Given the description of an element on the screen output the (x, y) to click on. 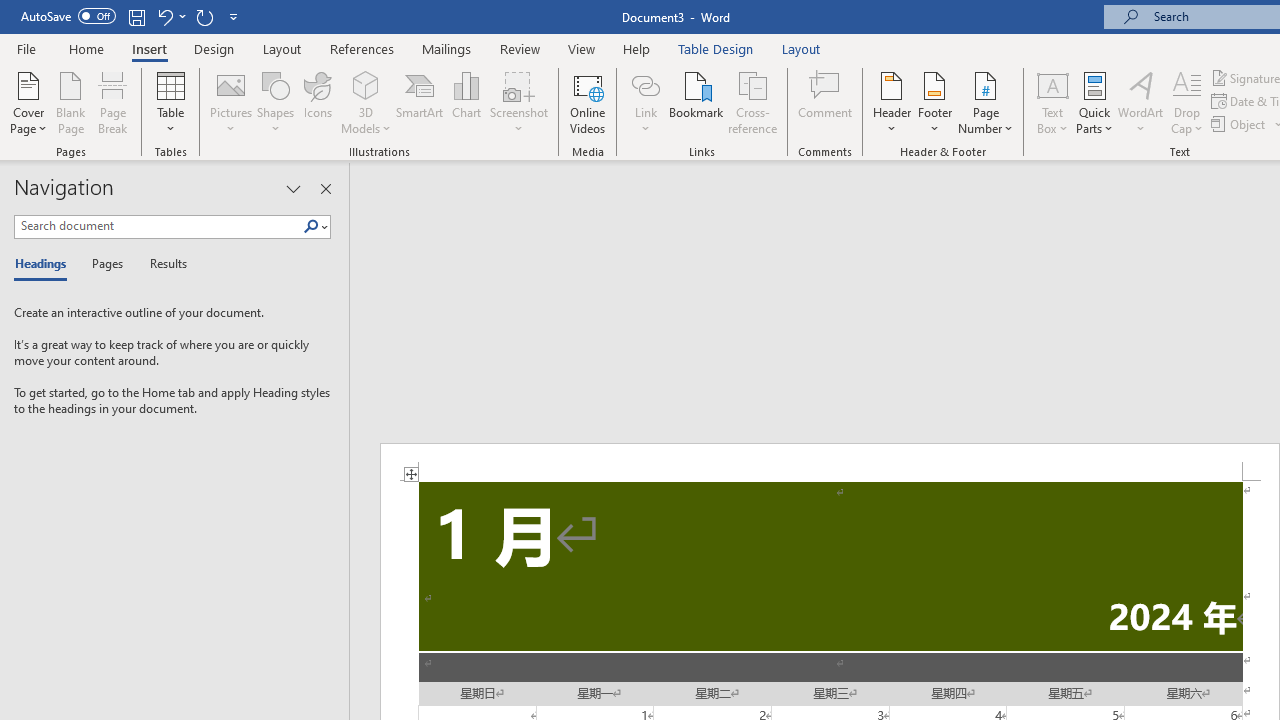
Blank Page (70, 102)
Object... (1240, 124)
Quick Parts (1094, 102)
Cover Page (28, 102)
Screenshot (518, 102)
Header (891, 102)
WordArt (1141, 102)
